Given the description of an element on the screen output the (x, y) to click on. 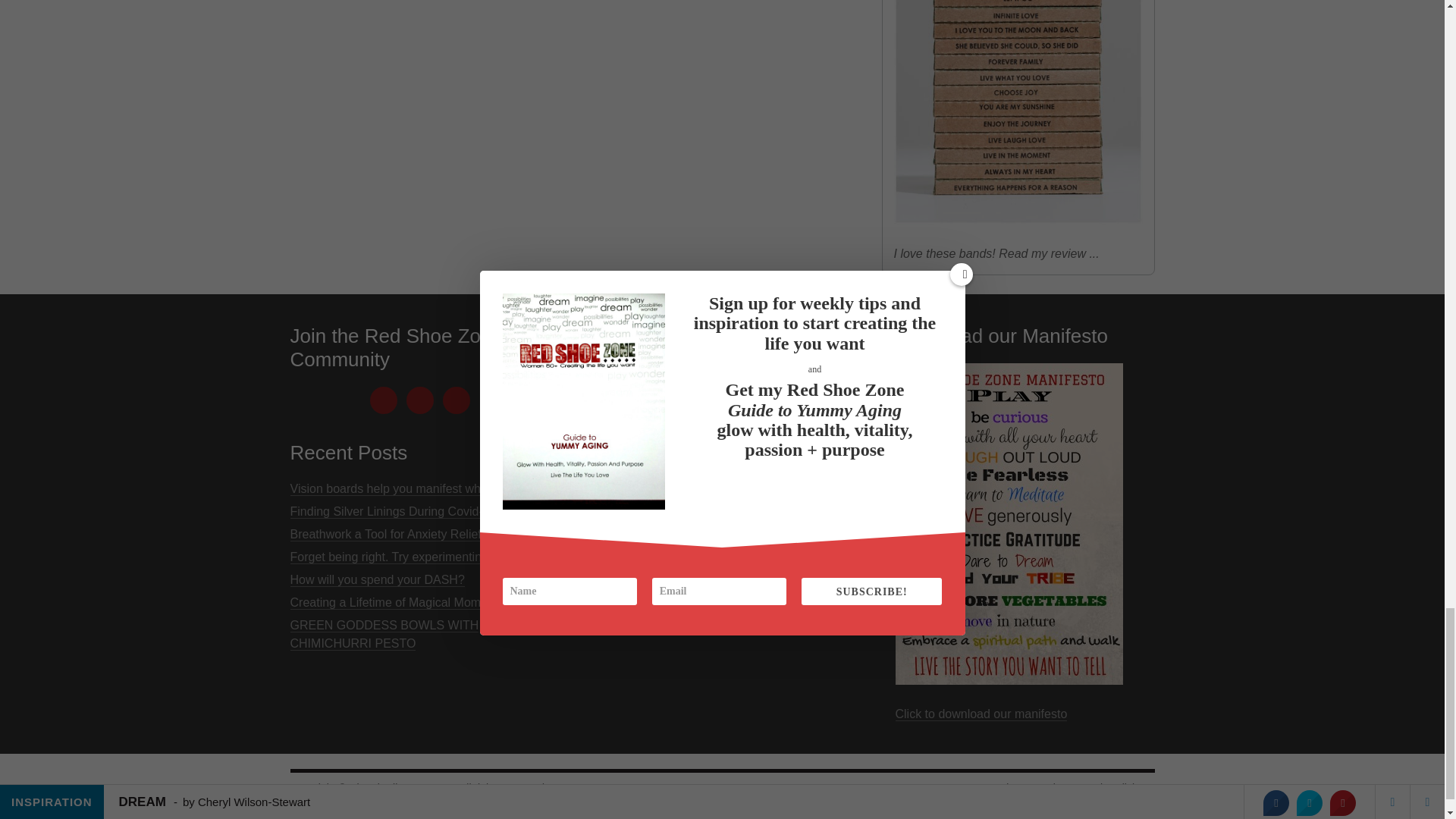
Get the Guide (721, 540)
